Given the description of an element on the screen output the (x, y) to click on. 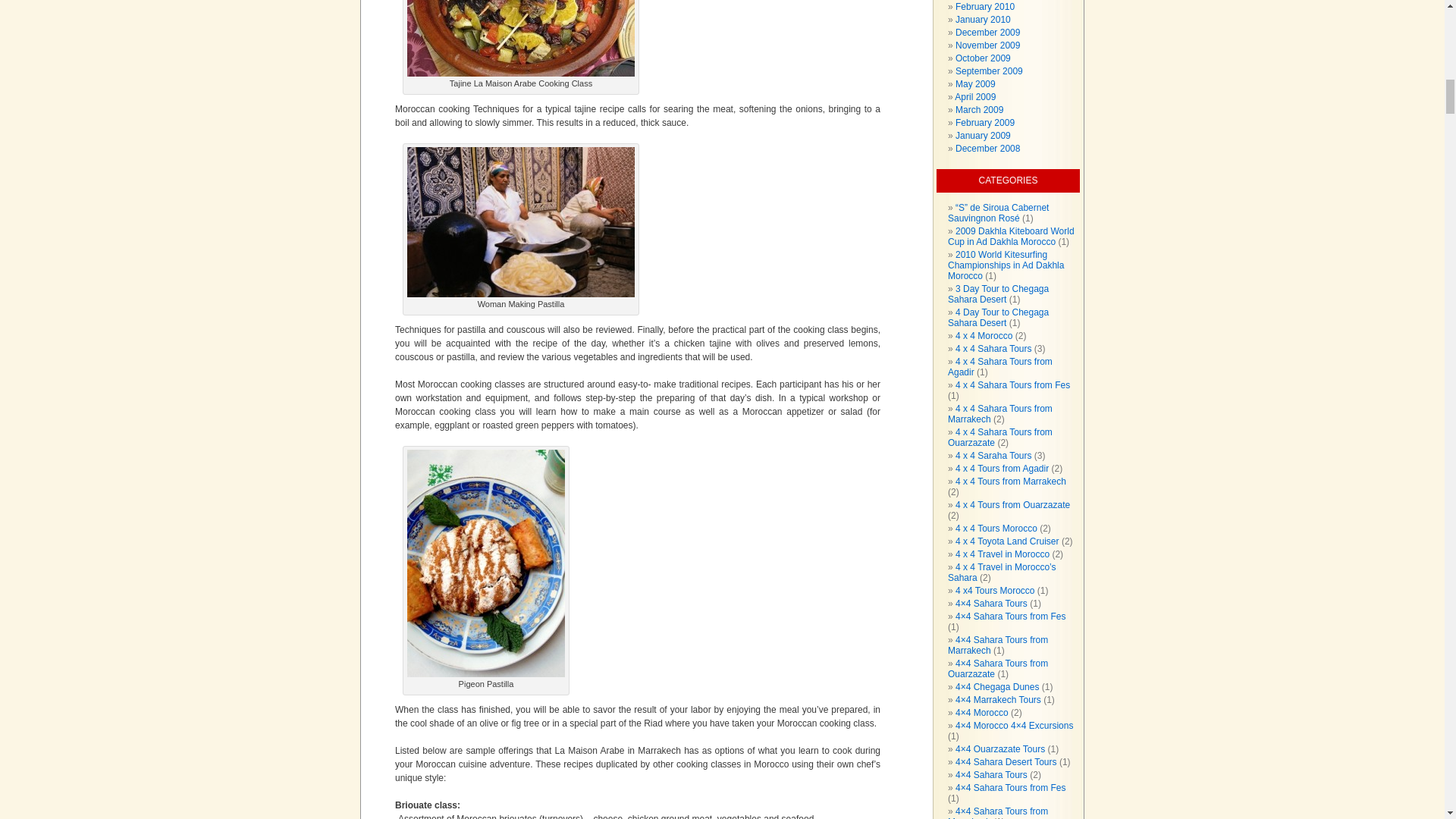
Tajine-Le-Maison-Arabe-Cooking-Class (520, 38)
Woman Making Pastilla (520, 222)
